Given the description of an element on the screen output the (x, y) to click on. 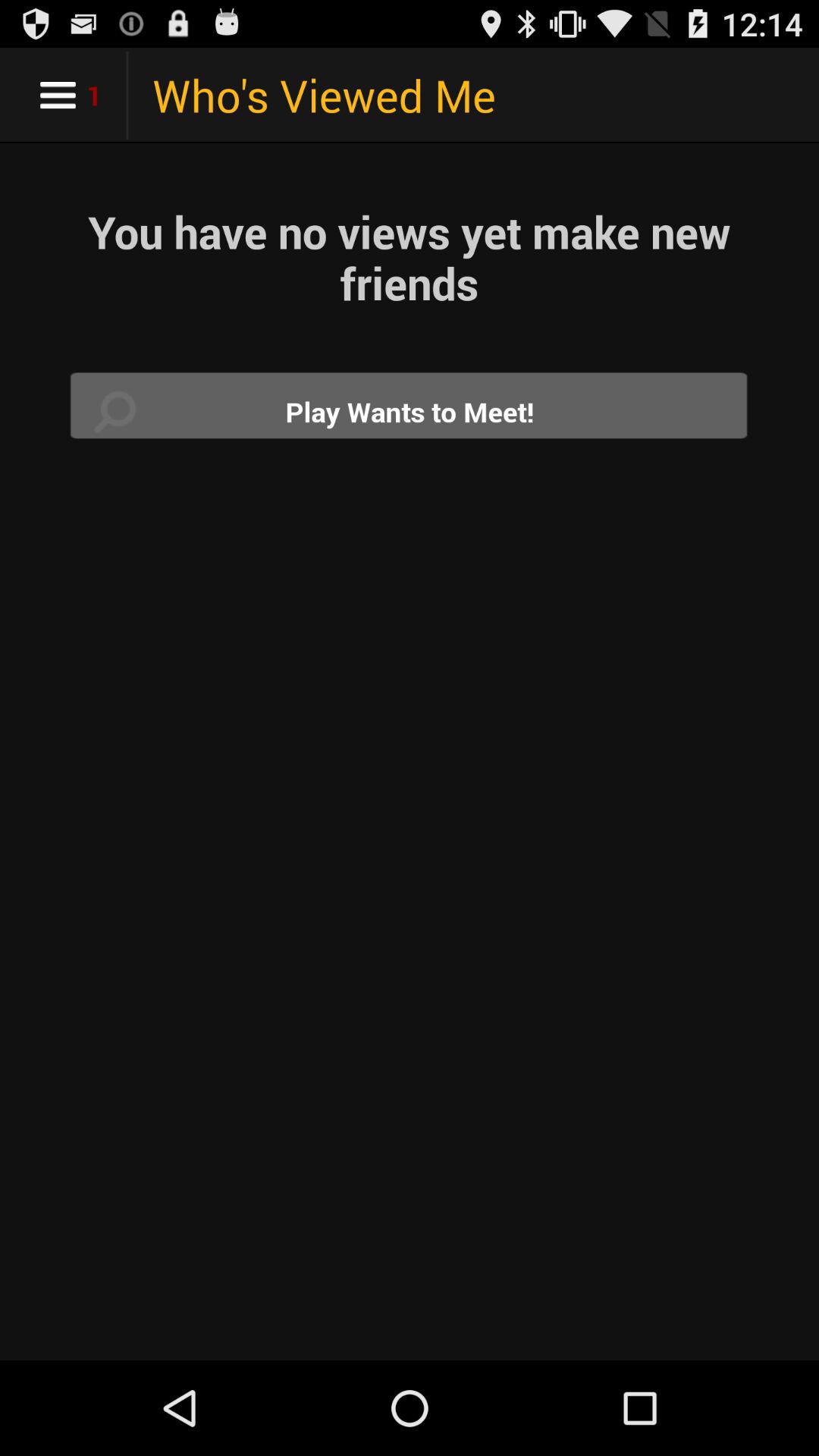
search option (409, 411)
